Given the description of an element on the screen output the (x, y) to click on. 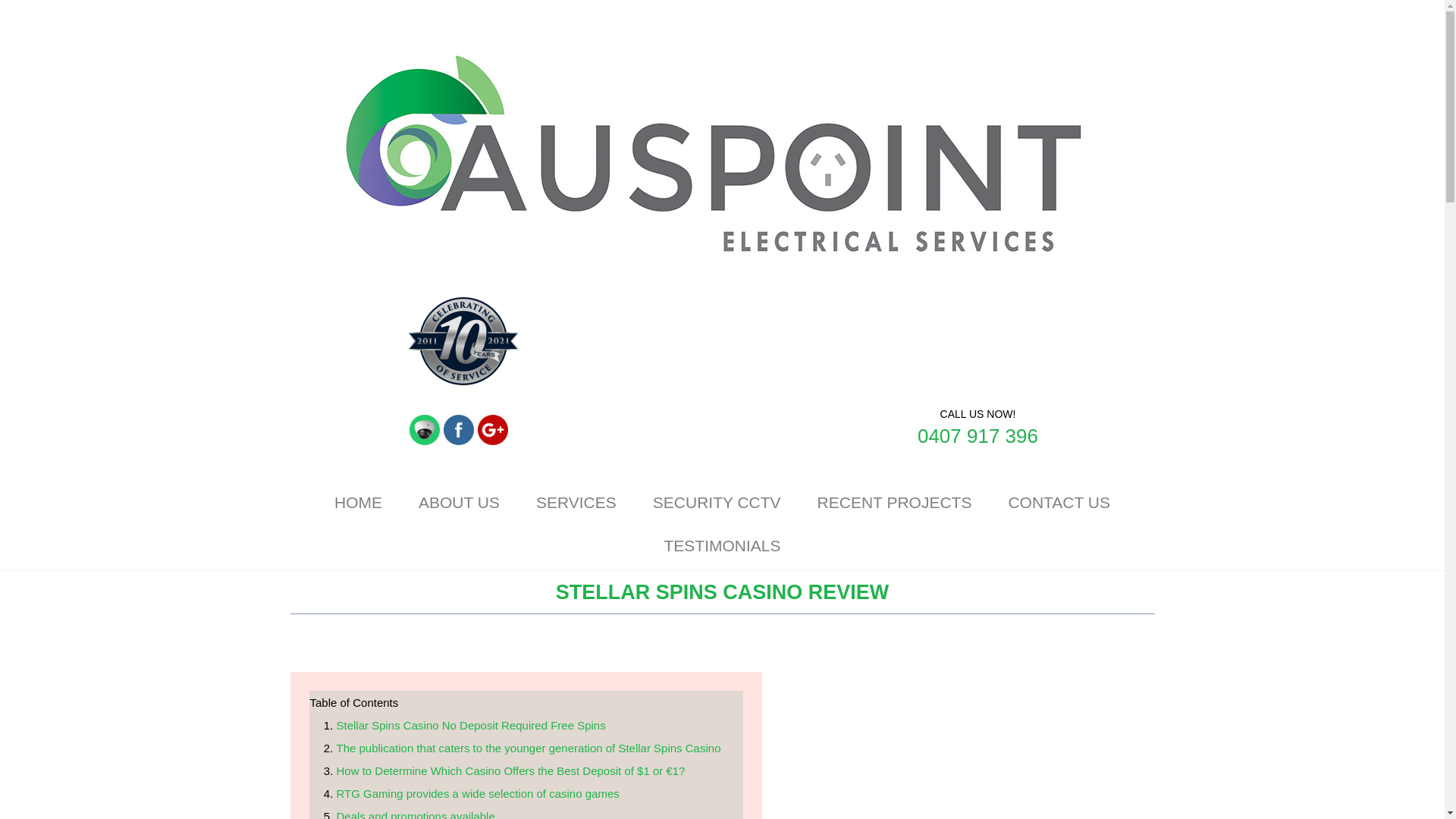
CONTACT US (1059, 503)
ABOUT US (459, 503)
TESTIMONIALS (721, 546)
Deals and promotions available (415, 814)
Facebook (459, 429)
RECENT PROJECTS (894, 503)
HOME (357, 503)
Stellar Spins Casino No Deposit Required Free Spins (470, 725)
RTG Gaming provides a wide selection of casino games (478, 793)
0407 917 396 (977, 436)
SECURITY CCTV (716, 503)
CCTV Packages (424, 429)
Auspoint Electrical Services Pty Ltd (713, 158)
SERVICES (576, 503)
